Given the description of an element on the screen output the (x, y) to click on. 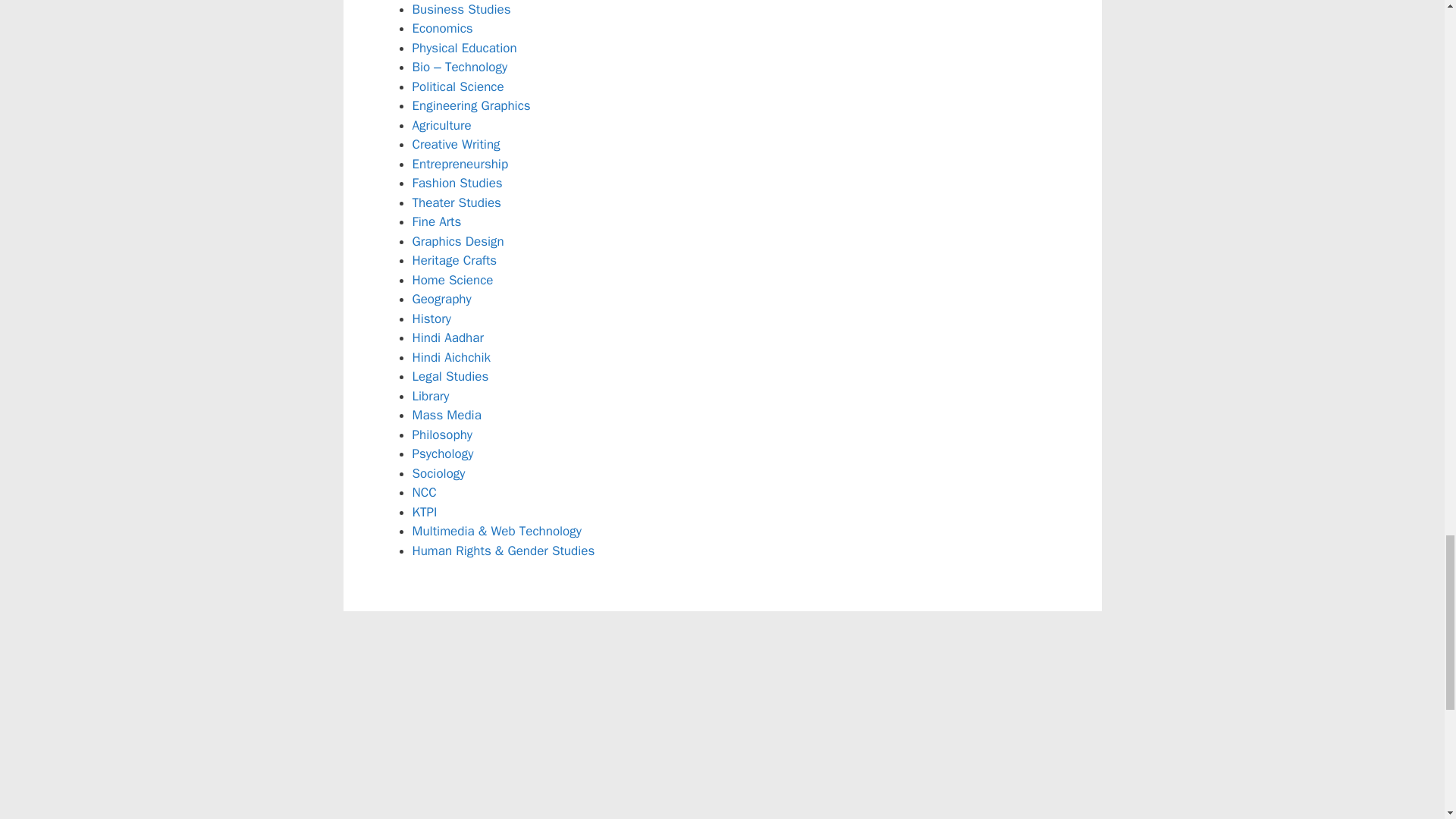
Theater Studies (456, 202)
Heritage Crafts (454, 260)
Engineering Graphics (471, 105)
Hindi Aadhar (447, 337)
Fine Arts (436, 221)
Home Science (452, 279)
Entrepreneurship (460, 163)
History (431, 318)
Hindi Aichchik (452, 357)
Political Science (457, 86)
